Given the description of an element on the screen output the (x, y) to click on. 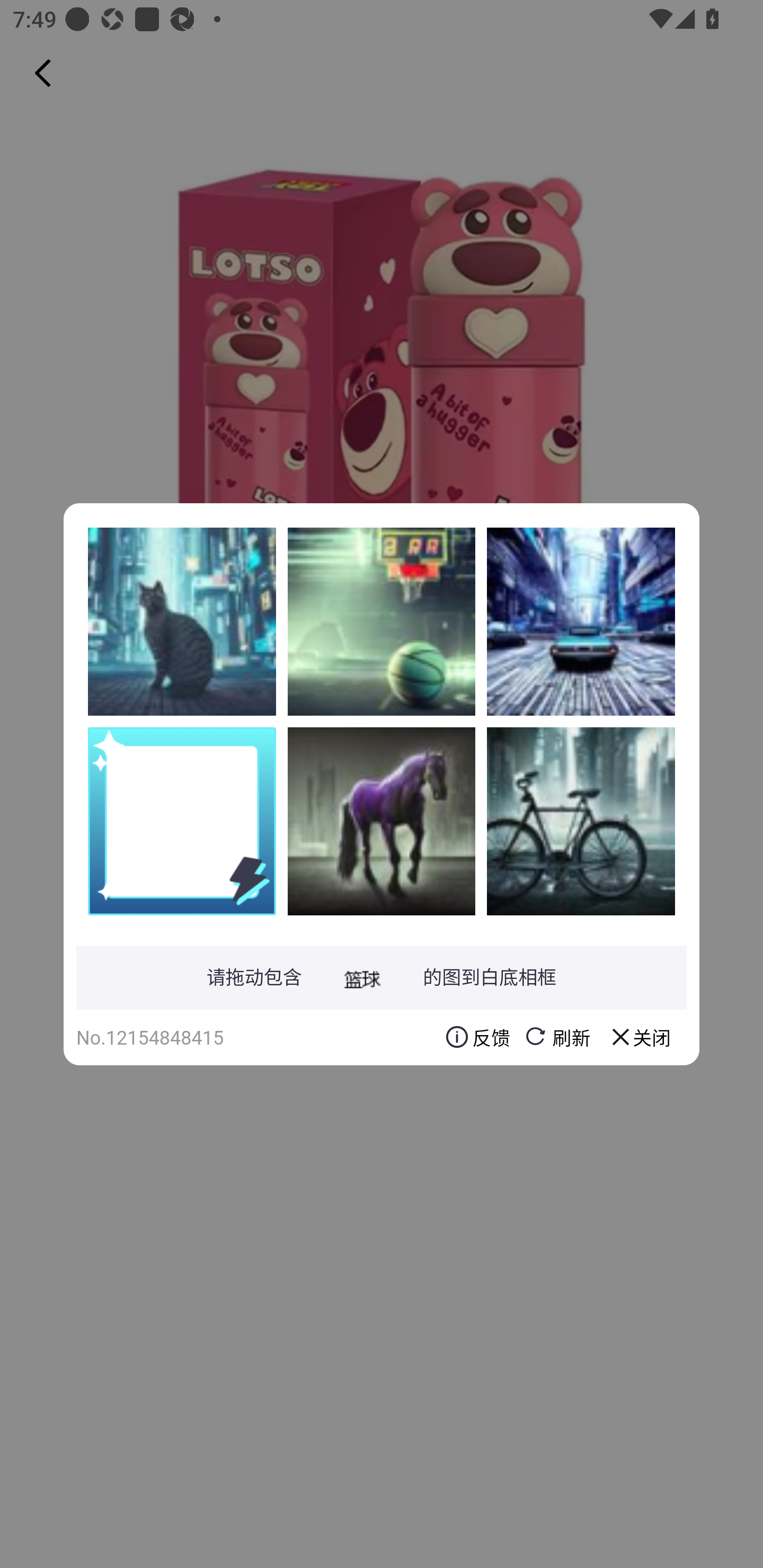
jWA1hx9zMl176SuPk69r (580, 621)
Y6bnBysAeFsYWlD5D6Bt+DCMT2j0Tkm (381, 820)
77n3hIQb5KhgpmXaXeCR (580, 820)
